Given the description of an element on the screen output the (x, y) to click on. 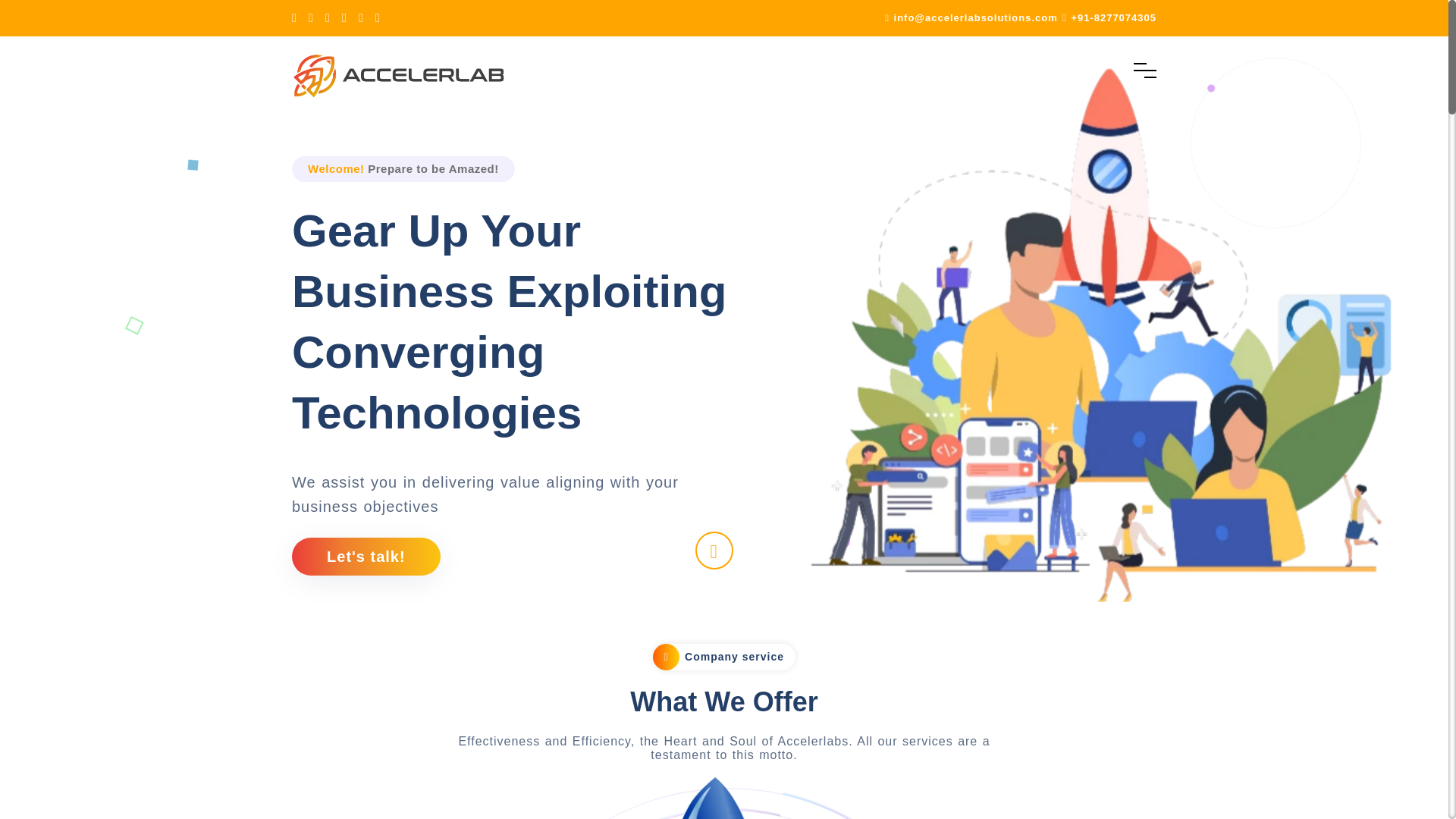
Accelerlab (398, 75)
Let's talk! (366, 556)
